Given the description of an element on the screen output the (x, y) to click on. 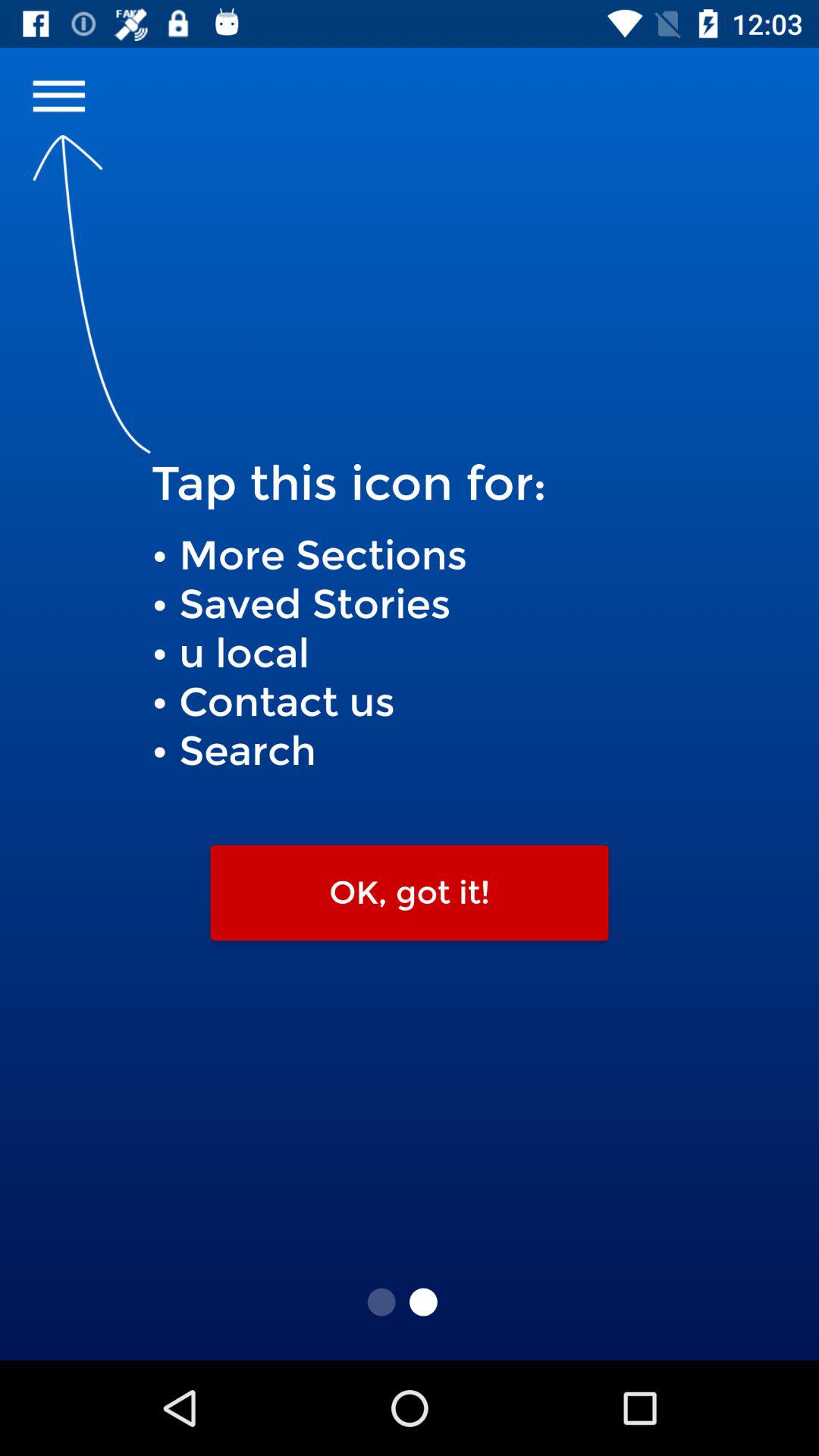
click the item below more sections saved icon (409, 892)
